Given the description of an element on the screen output the (x, y) to click on. 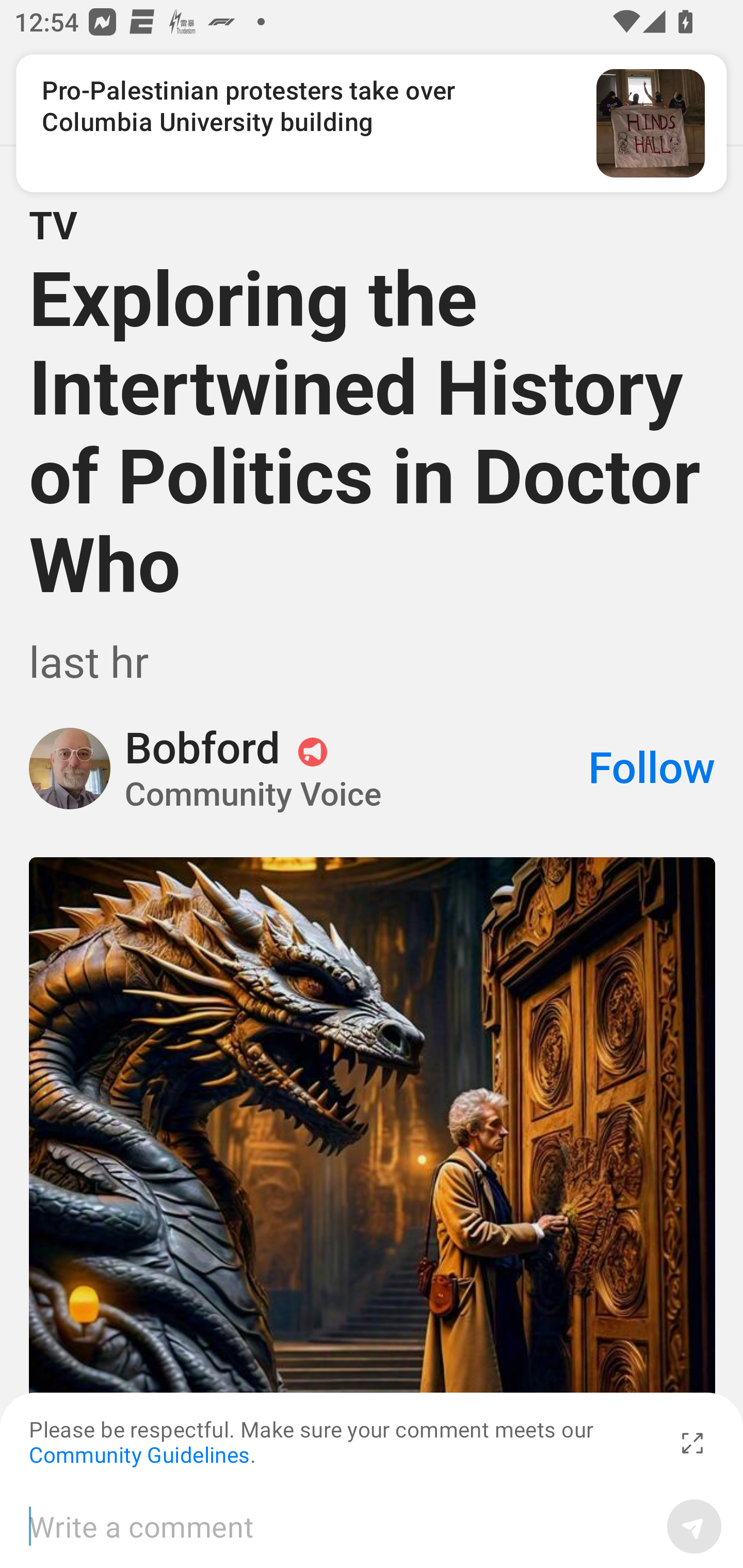
Write a comment (340, 1526)
